Given the description of an element on the screen output the (x, y) to click on. 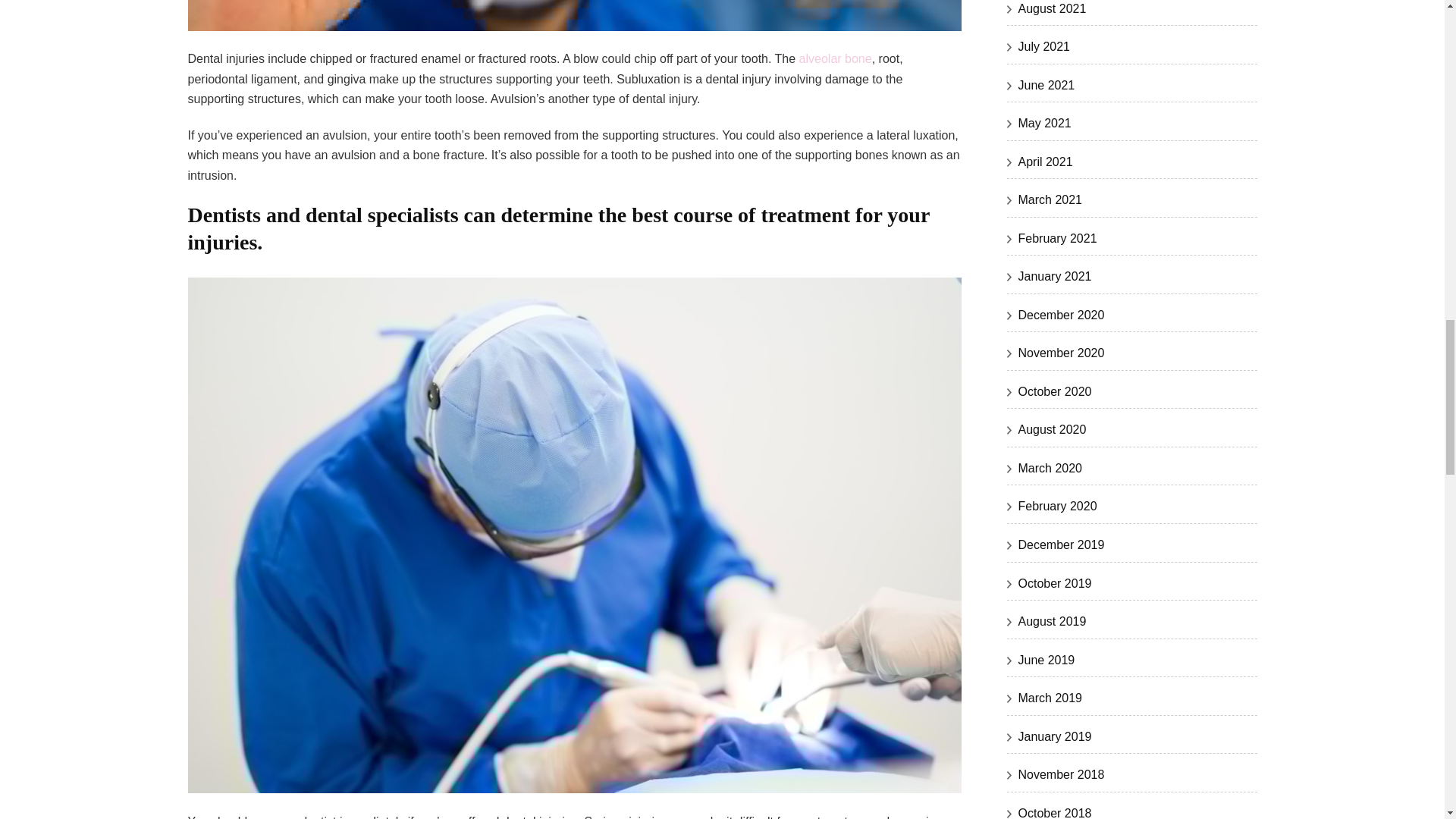
alveolar bone (835, 58)
